Given the description of an element on the screen output the (x, y) to click on. 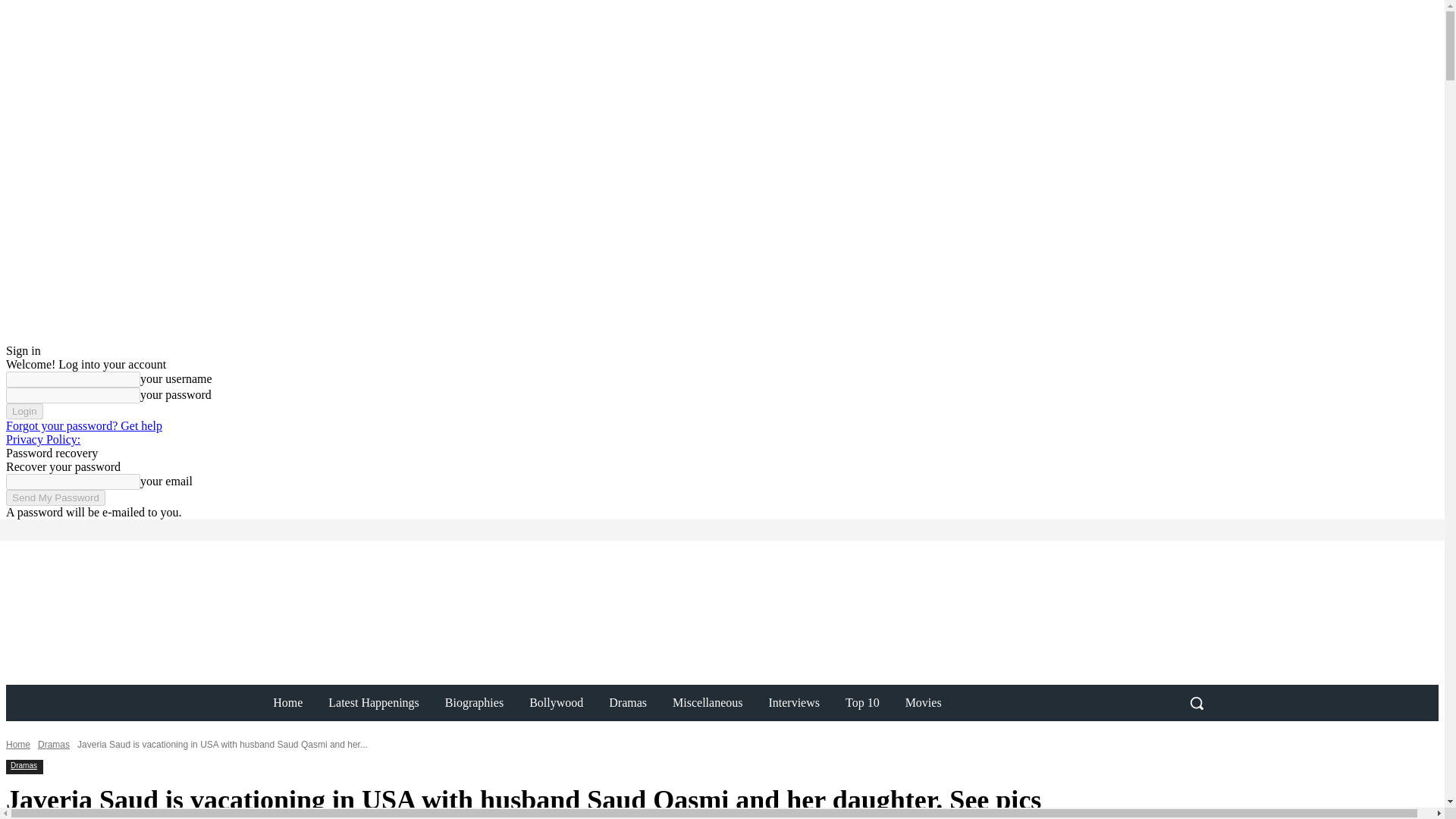
Dramas (627, 702)
Home (287, 702)
Send My Password (54, 497)
Latest Happenings (373, 702)
Privacy Policy: (42, 439)
Movies (923, 702)
Facebook (197, 529)
Biographies (474, 702)
Top 10 (862, 702)
Forgot your password? Get help (83, 425)
Pinterest (239, 529)
Youtube (260, 529)
Instagram (218, 529)
Interviews (793, 702)
Dramas (23, 766)
